Given the description of an element on the screen output the (x, y) to click on. 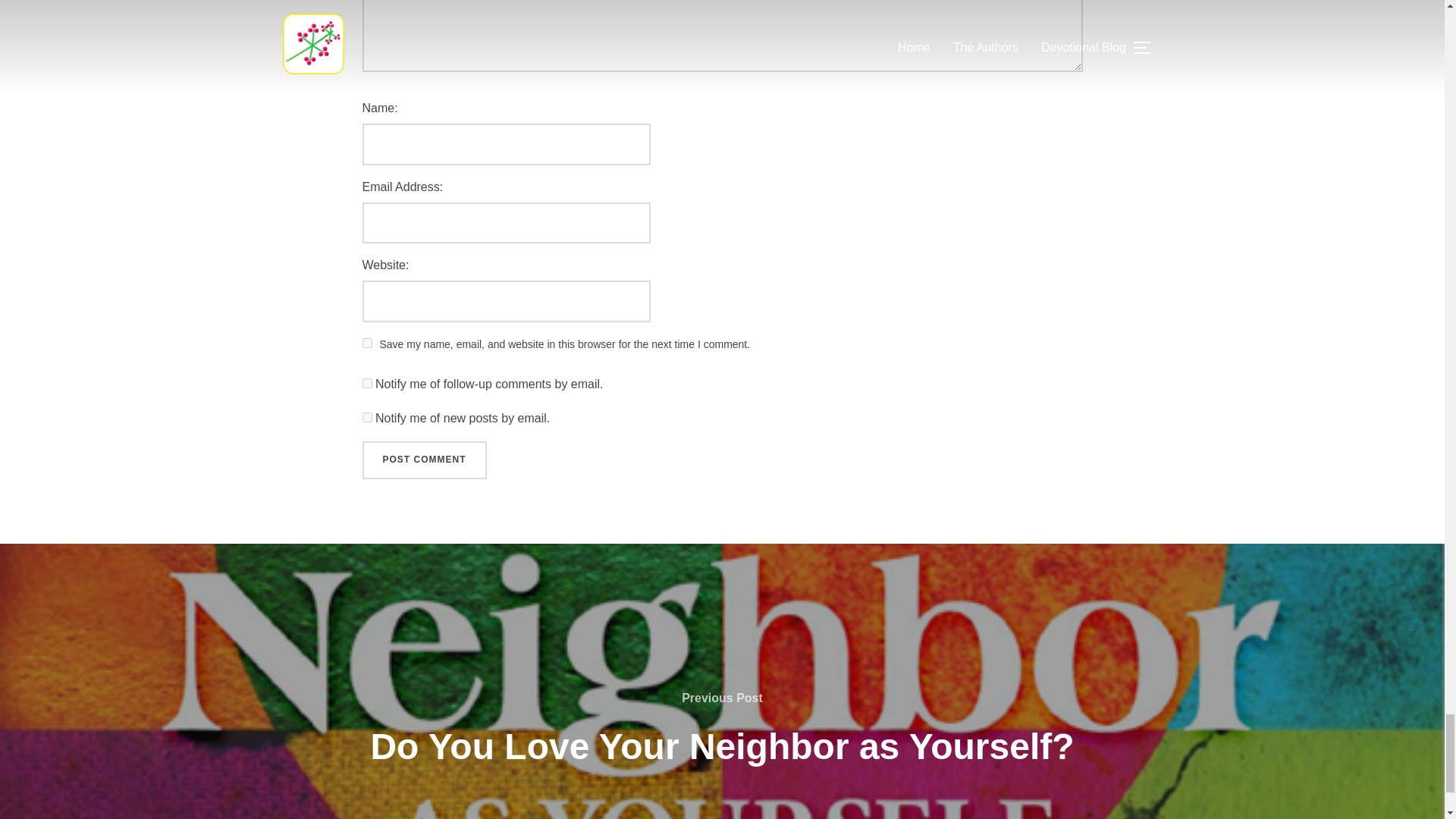
subscribe (367, 383)
subscribe (367, 417)
Post Comment (424, 460)
Post Comment (424, 460)
yes (367, 343)
